Given the description of an element on the screen output the (x, y) to click on. 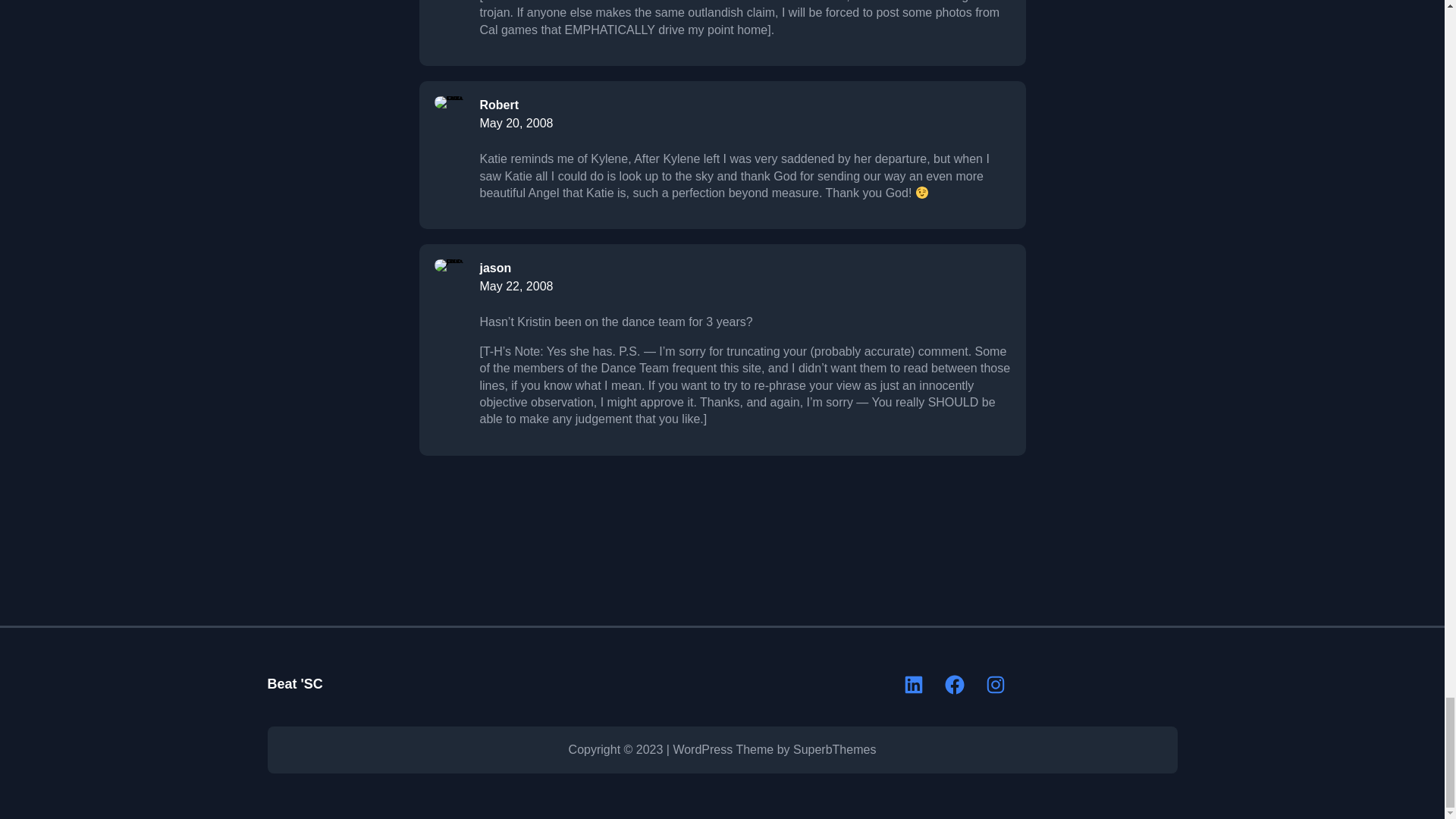
Instagram (995, 684)
Beat 'SC (293, 683)
LinkedIn (913, 684)
May 20, 2008 (516, 123)
Facebook (954, 684)
May 22, 2008 (516, 286)
SuperbThemes (834, 748)
